Given the description of an element on the screen output the (x, y) to click on. 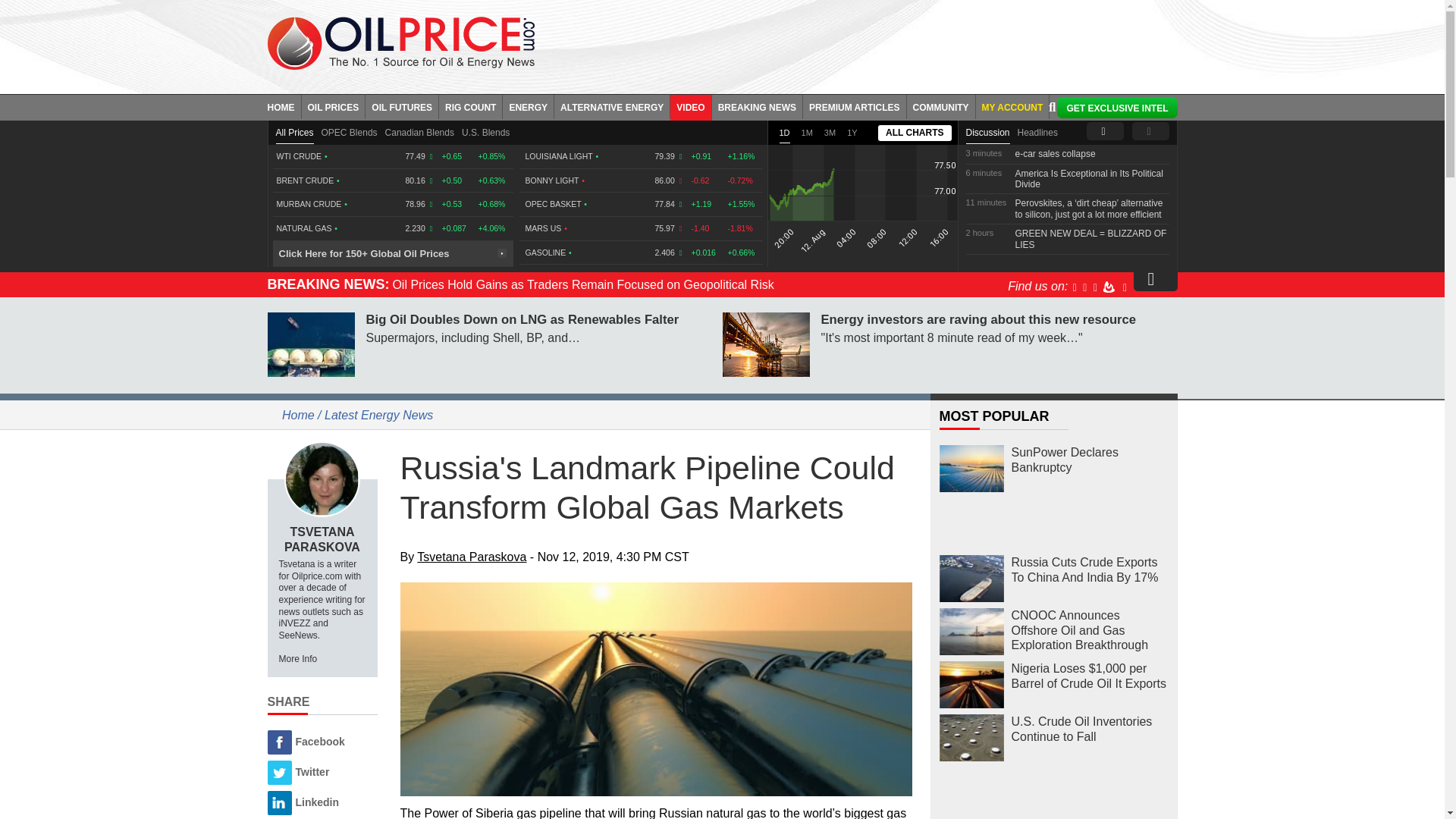
Tsvetana Paraskova (321, 478)
Big Oil Doubles Down on LNG as Renewables Falter (309, 344)
OIL PRICES (333, 106)
VIDEO (690, 106)
RIG COUNT (470, 106)
ALTERNATIVE ENERGY (611, 106)
COMMUNITY (941, 106)
ENERGY (528, 106)
OIL FUTURES (402, 106)
